Given the description of an element on the screen output the (x, y) to click on. 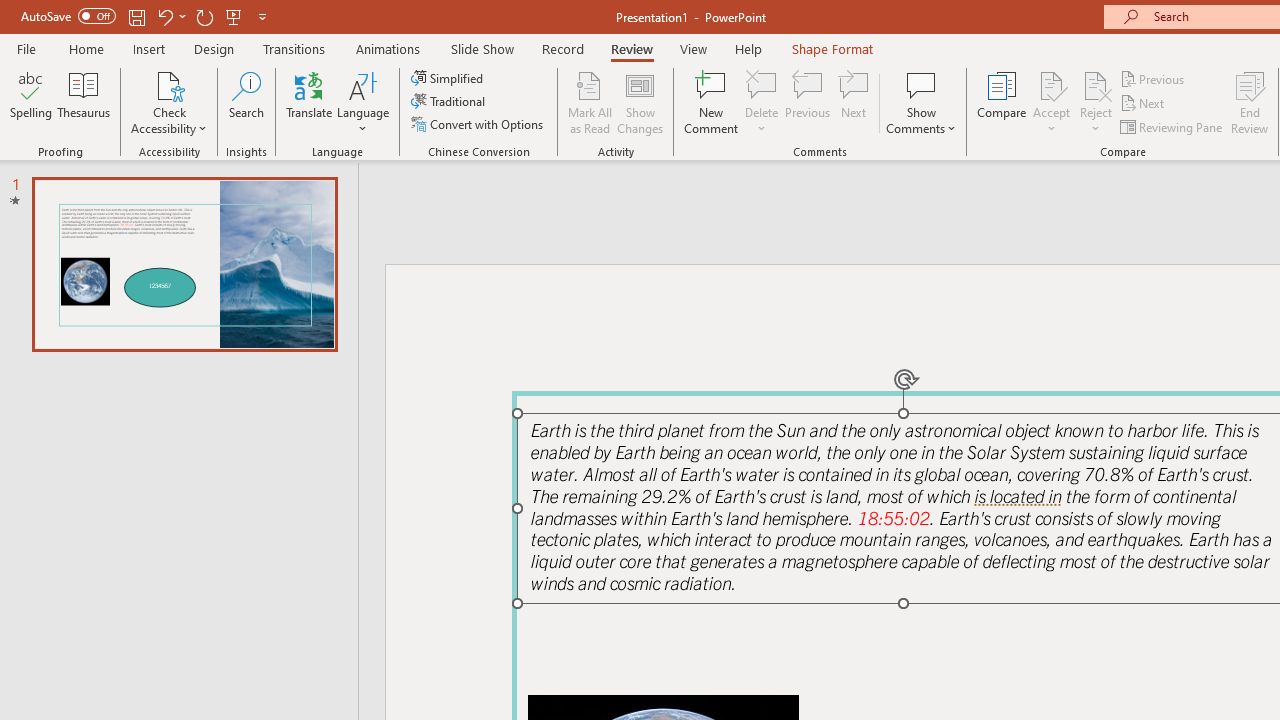
Show Changes (639, 102)
Language (363, 102)
